Given the description of an element on the screen output the (x, y) to click on. 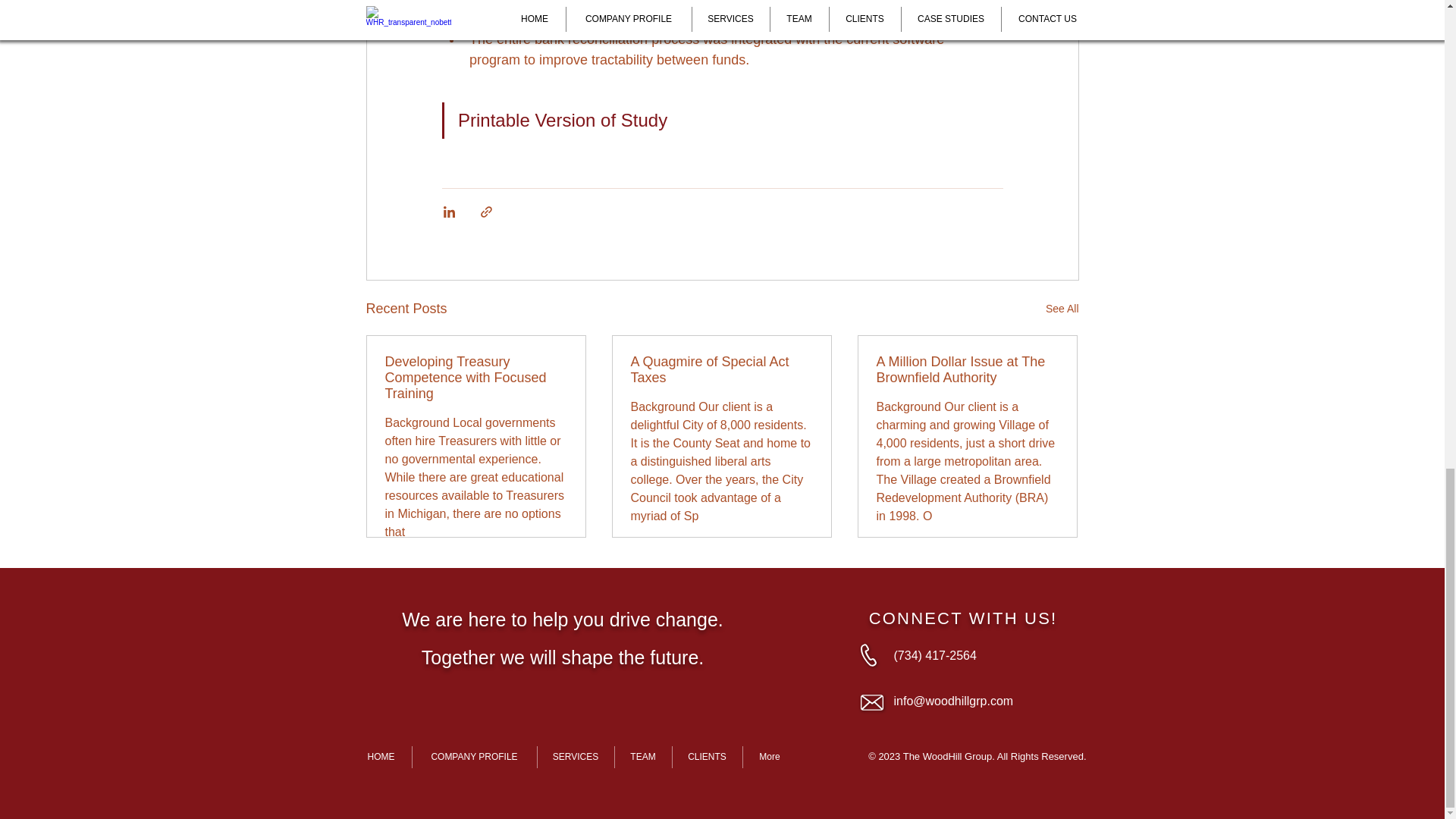
CLIENTS (706, 757)
Printable Version of Study  (565, 119)
HOME (380, 757)
SERVICES (574, 757)
A Quagmire of Special Act Taxes (721, 369)
COMPANY PROFILE (474, 757)
See All (1061, 309)
A Million Dollar Issue at The Brownfield Authority (967, 369)
TEAM (642, 757)
Developing Treasury Competence with Focused Training (476, 377)
